Given the description of an element on the screen output the (x, y) to click on. 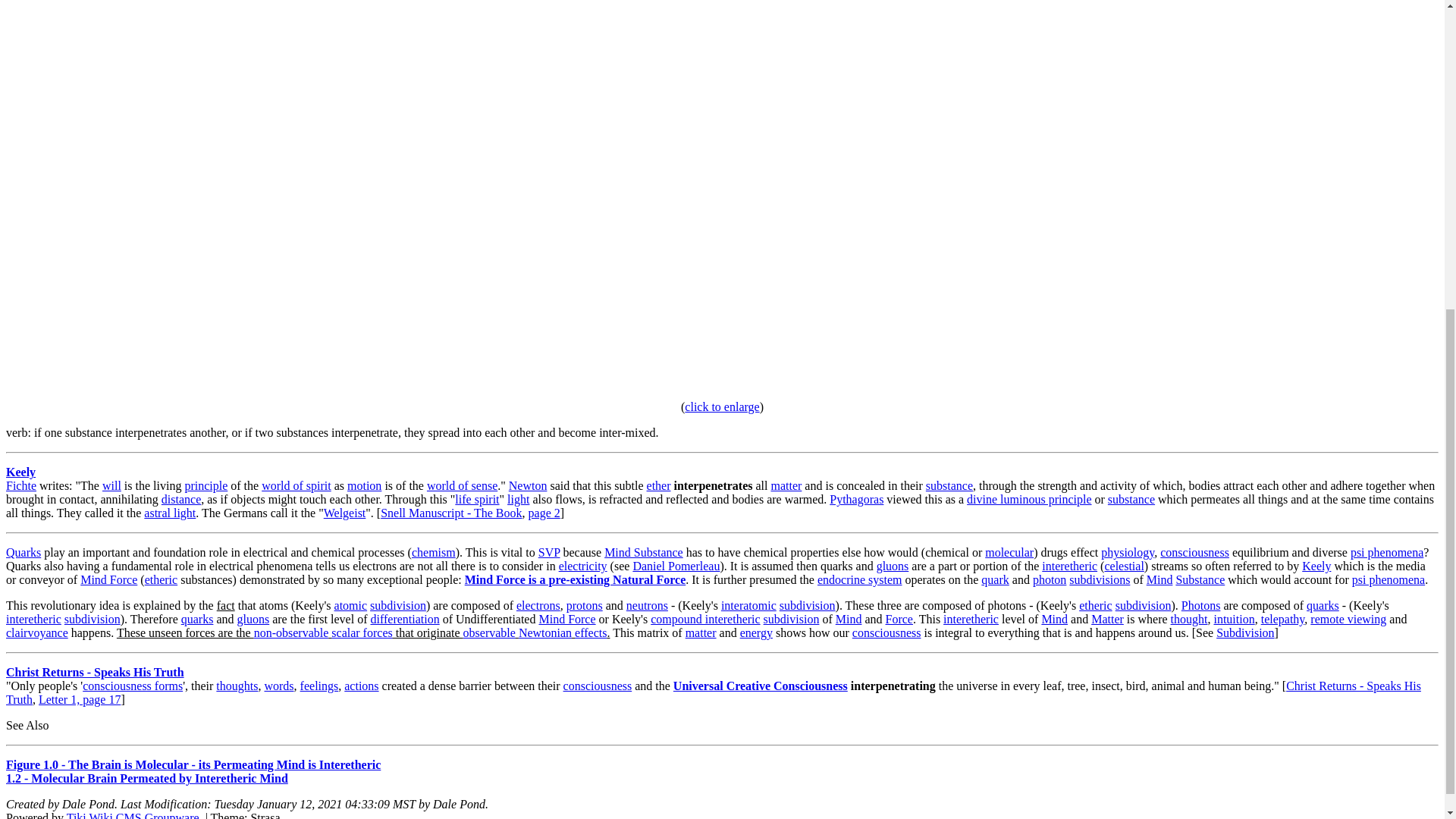
Pythagoras (856, 499)
principle (205, 485)
Substance (949, 485)
motion (364, 485)
life spirit (476, 499)
Matter (786, 485)
Keely (19, 472)
Will (110, 485)
light (517, 499)
Welgeist (344, 512)
